Given the description of an element on the screen output the (x, y) to click on. 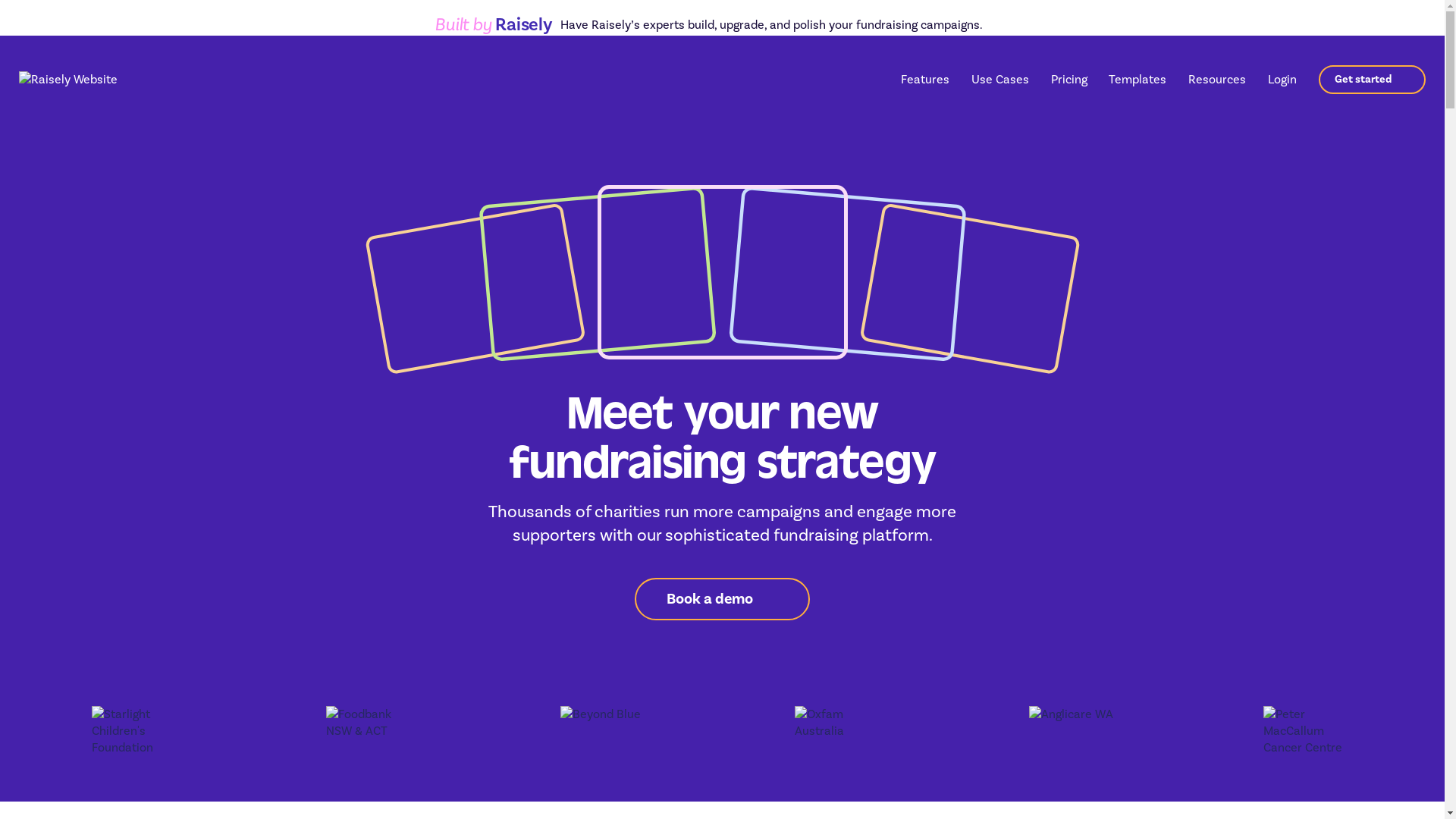
Resources Element type: text (1216, 79)
Use Cases Element type: text (1000, 79)
Templates Element type: text (1137, 79)
Pricing Element type: text (1069, 79)
Login Element type: text (1281, 79)
Get started Element type: text (1371, 79)
Features Element type: text (924, 79)
Book a demo Element type: text (721, 598)
